Given the description of an element on the screen output the (x, y) to click on. 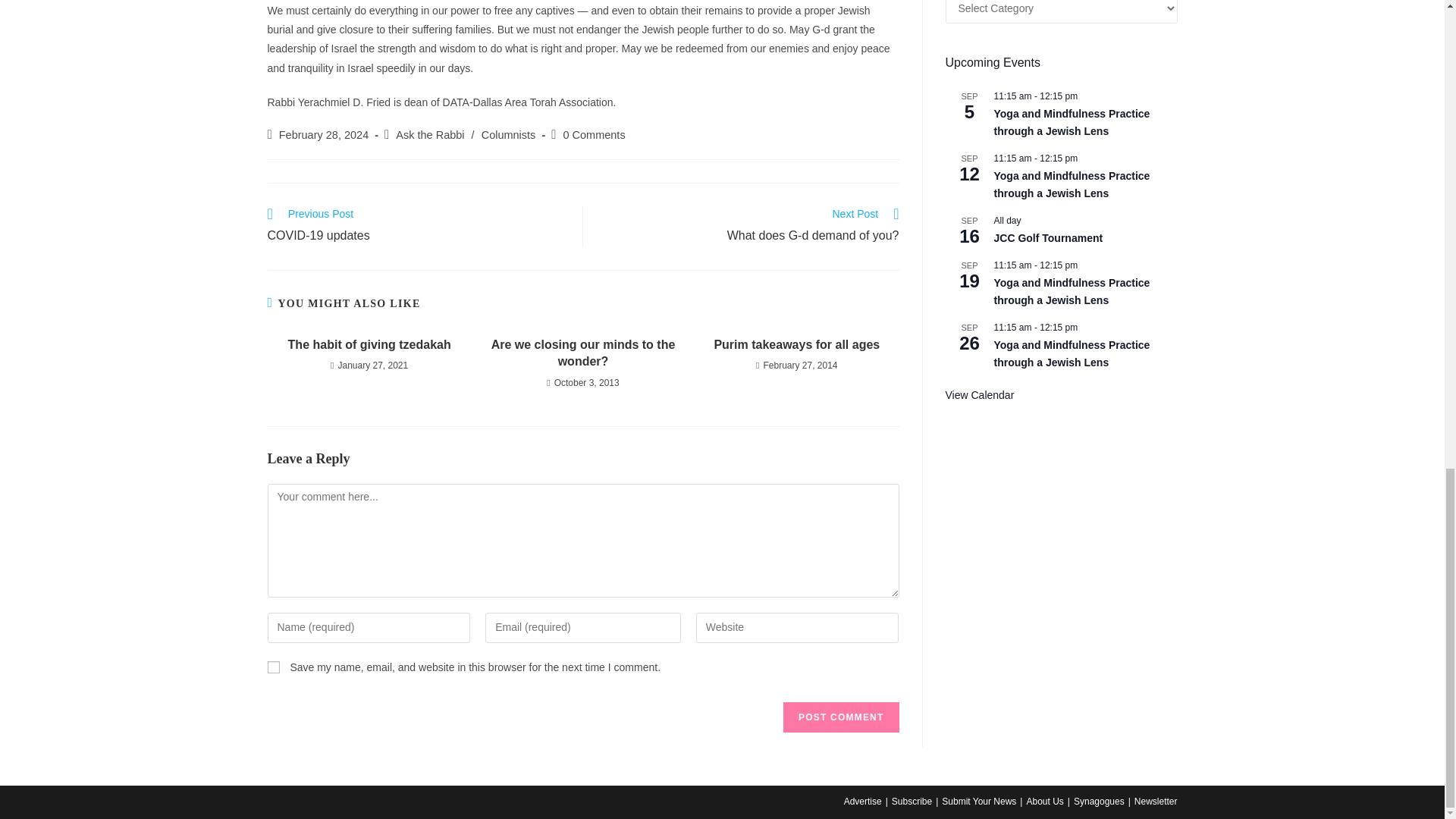
Yoga and Mindfulness Practice through a Jewish Lens (1071, 291)
Yoga and Mindfulness Practice through a Jewish Lens (1071, 184)
JCC Golf Tournament (1047, 237)
yes (272, 666)
Yoga and Mindfulness Practice through a Jewish Lens (1071, 354)
View more events. (978, 395)
Yoga and Mindfulness Practice through a Jewish Lens (1071, 122)
Post Comment (840, 716)
